Given the description of an element on the screen output the (x, y) to click on. 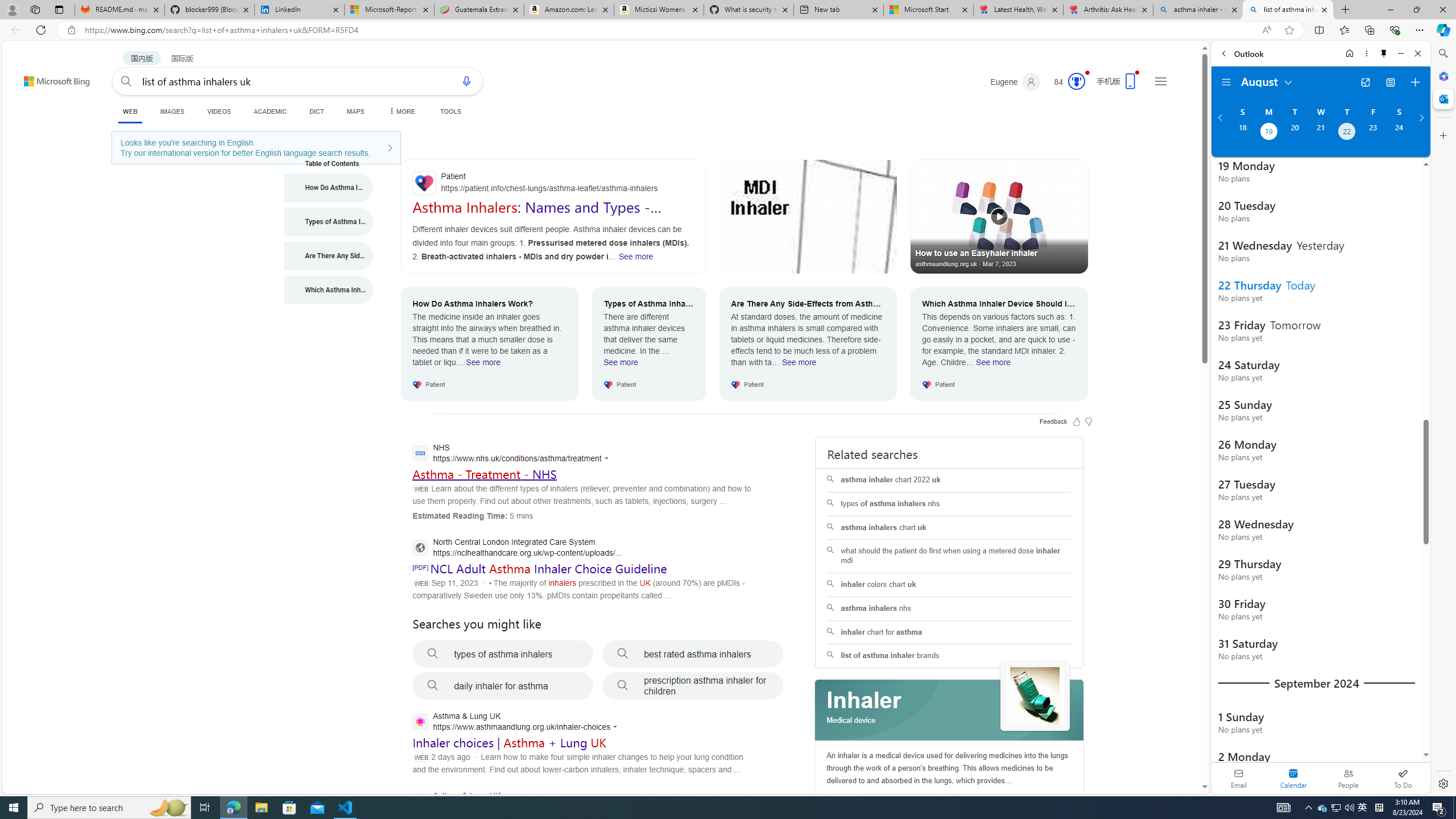
asthma inhaler chart 2022 uk (949, 480)
DICT (316, 111)
inhaler chart for asthma (949, 632)
See more images of Inhaler (1035, 697)
inhaler colors chart uk (949, 584)
People (1347, 777)
best rated asthma inhalers (692, 653)
AutomationID: serp_medal_svg (1076, 81)
